Given the description of an element on the screen output the (x, y) to click on. 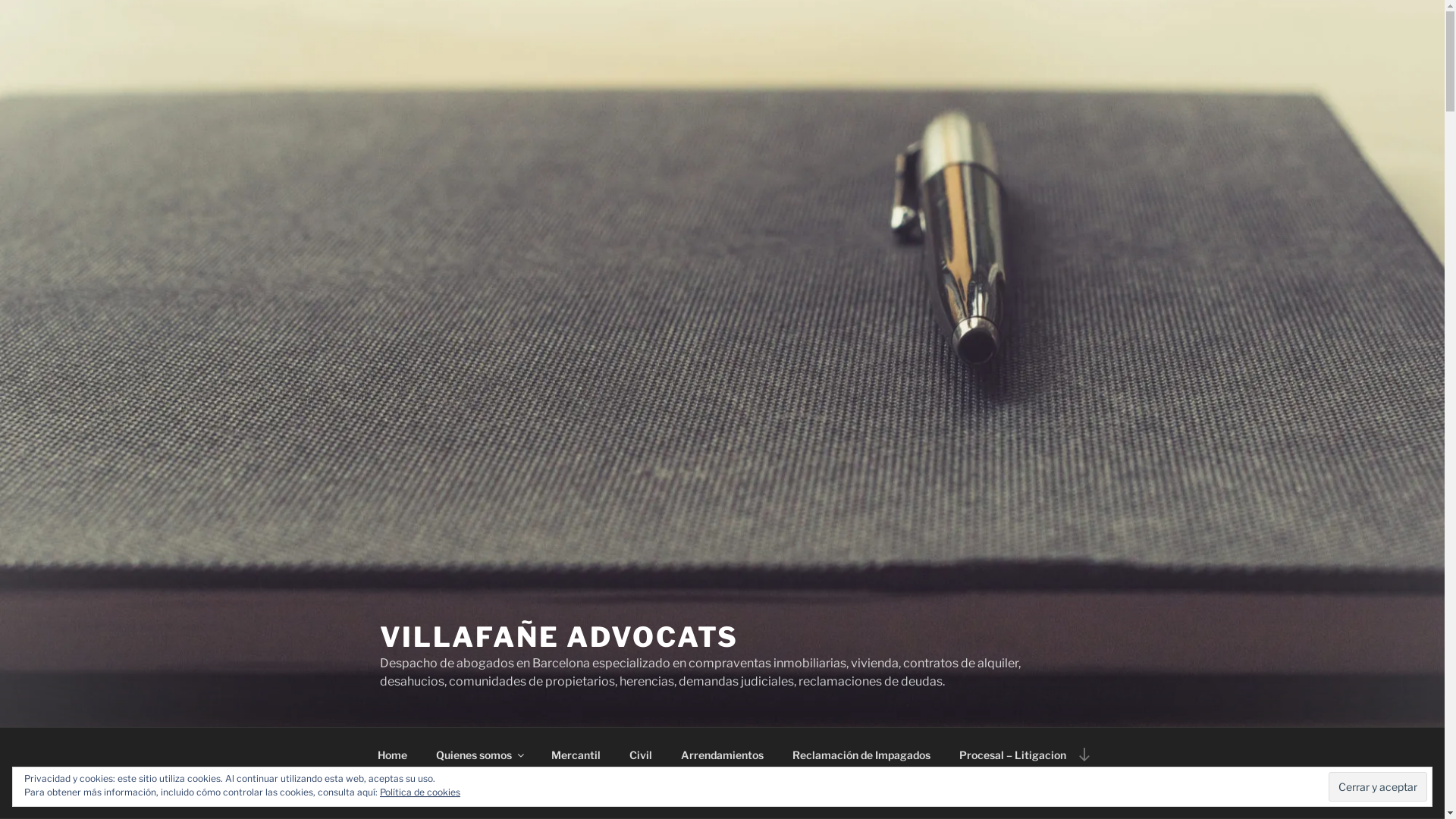
Civil Element type: text (640, 753)
Desplazarse al contenido Element type: text (1083, 753)
Contacto Element type: text (400, 791)
Home Element type: text (392, 753)
Arrendamientos Element type: text (721, 753)
Quienes somos Element type: text (479, 753)
Blog Element type: text (464, 791)
Mercantil Element type: text (576, 753)
Cerrar y aceptar Element type: text (1377, 786)
